Given the description of an element on the screen output the (x, y) to click on. 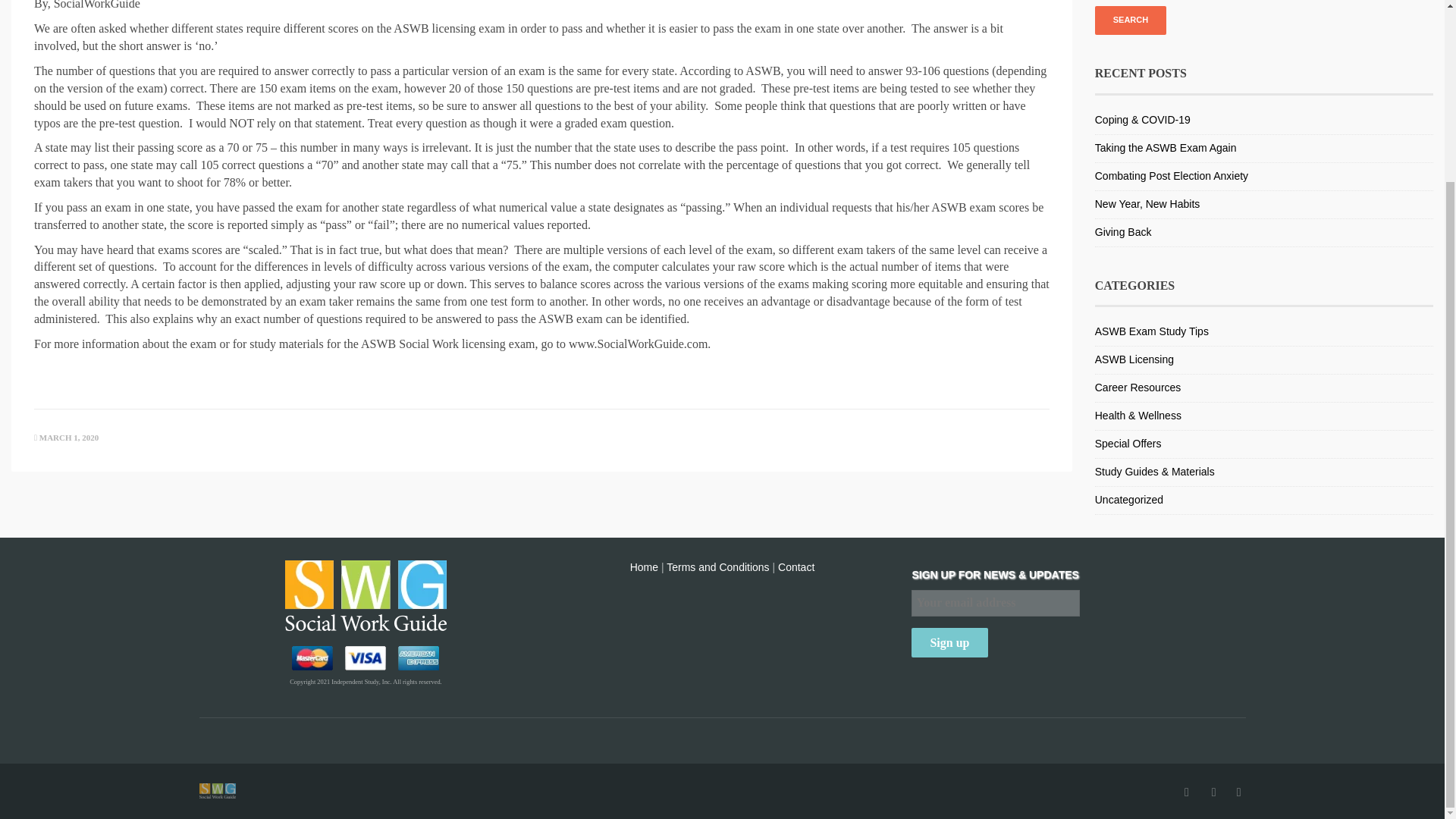
ASWB Licensing (1133, 358)
Search (1130, 20)
Special Offers (1127, 443)
New Year, New Habits (1146, 203)
Search (1130, 20)
ASWB Exam Study Tips (1151, 331)
Giving Back (1122, 232)
Taking the ASWB Exam Again (1165, 147)
Uncategorized (1128, 499)
facebook (1186, 791)
